Given the description of an element on the screen output the (x, y) to click on. 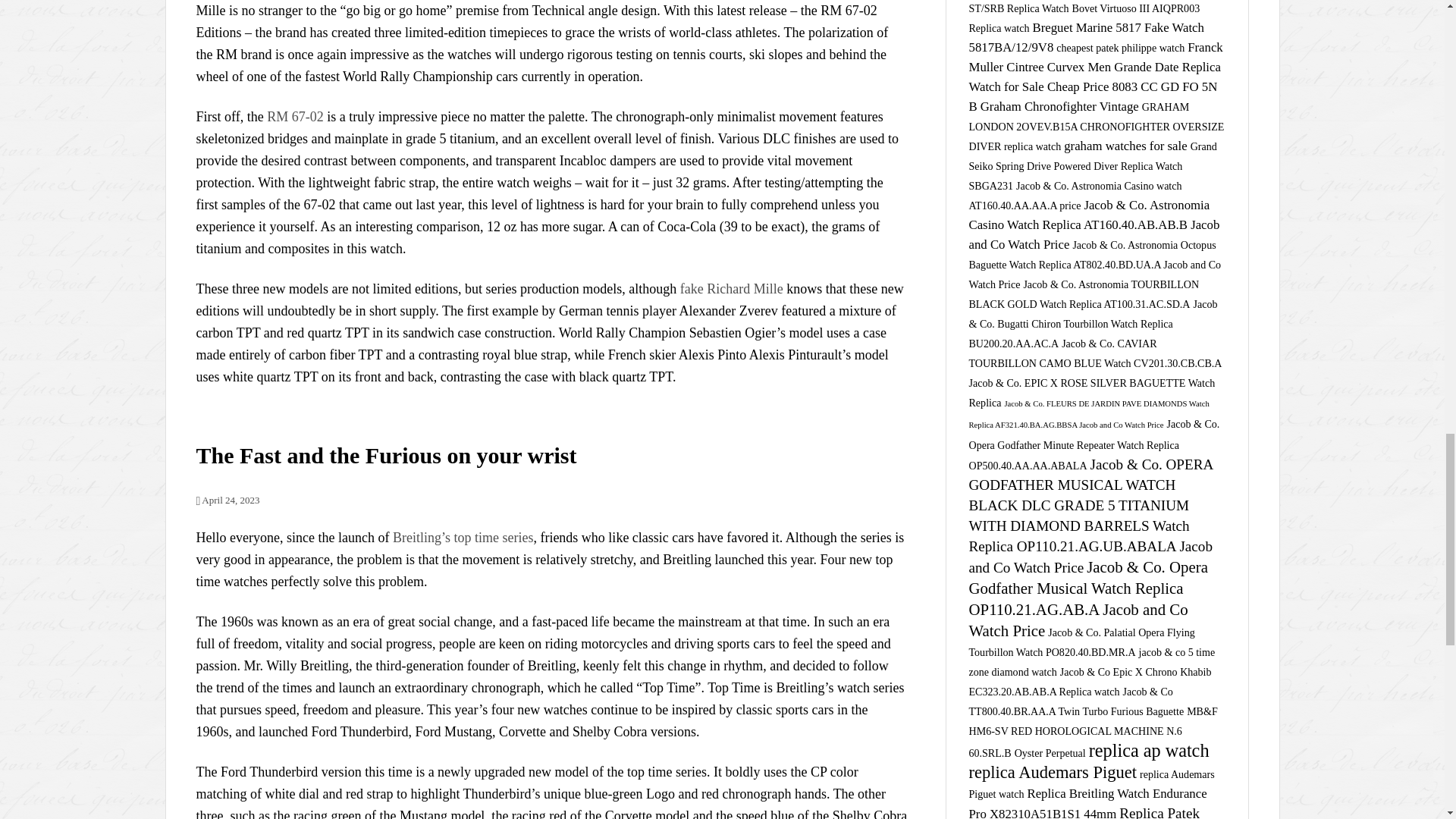
RM 67-02 (294, 116)
April 24, 2023 (227, 500)
fake Richard Mille (731, 288)
The Fast and the Furious on your wrist (385, 455)
3:19 am (227, 500)
